Given the description of an element on the screen output the (x, y) to click on. 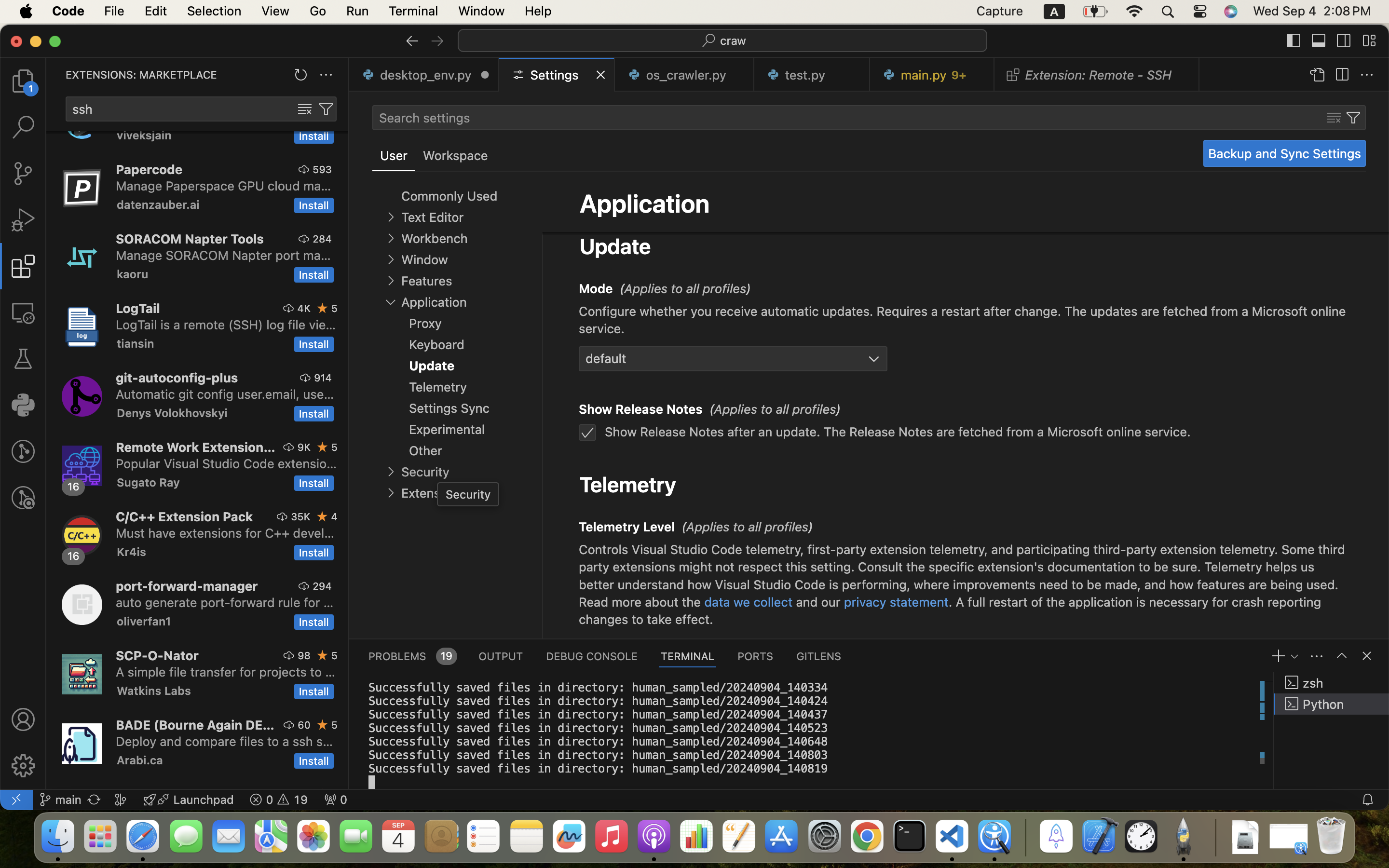
Must have extensions for C++ development in Visual Studio Code. Element type: AXStaticText (224, 532)
zsh  Element type: AXGroup (1331, 682)
Search settings Element type: AXStaticText (424, 117)
284 Element type: AXStaticText (321, 238)
914 Element type: AXStaticText (322, 377)
